Given the description of an element on the screen output the (x, y) to click on. 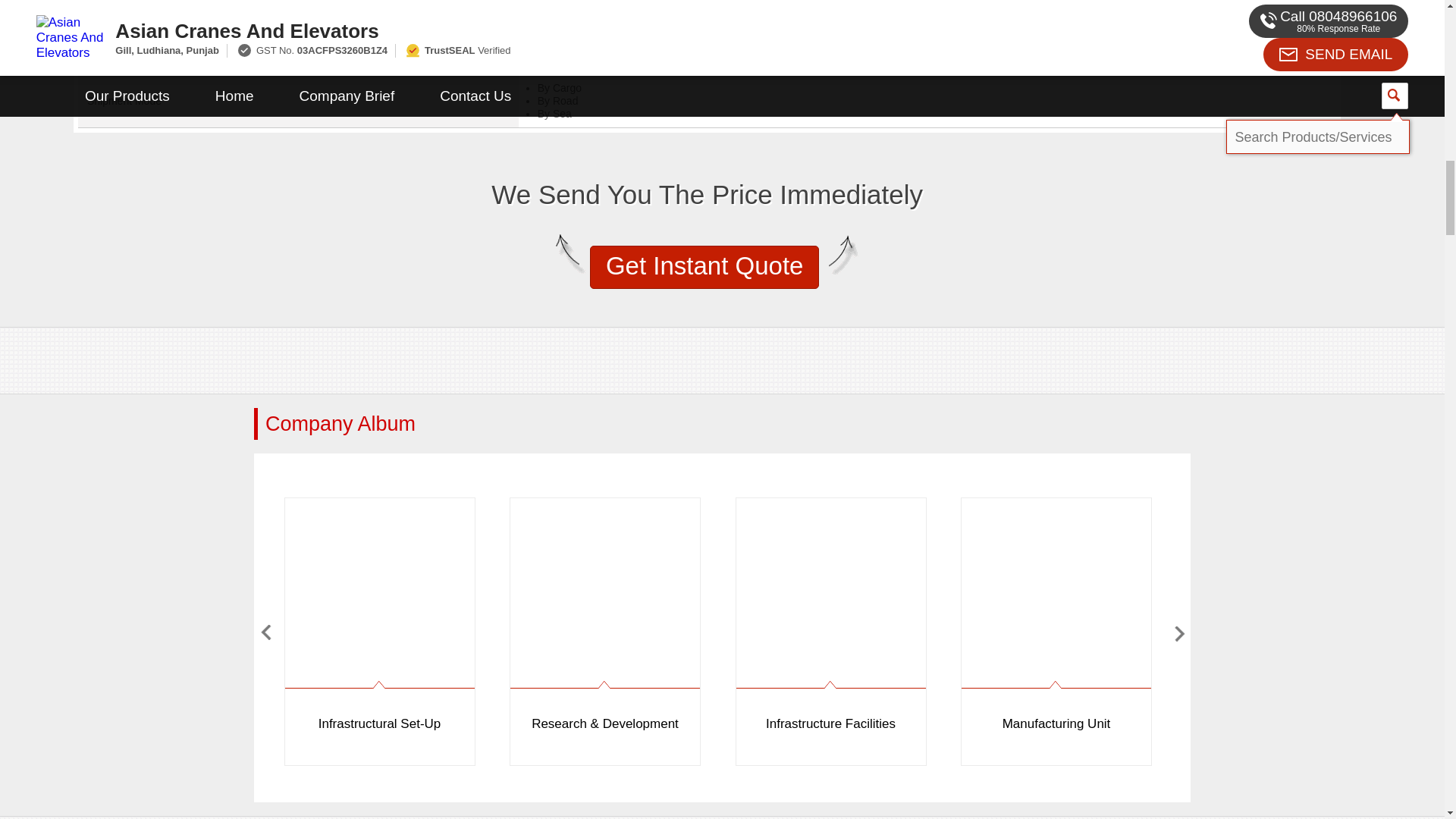
Infrastructural Set-Up (379, 625)
Manufacturing Unit (1055, 625)
Infrastructure Facilities (829, 625)
